Given the description of an element on the screen output the (x, y) to click on. 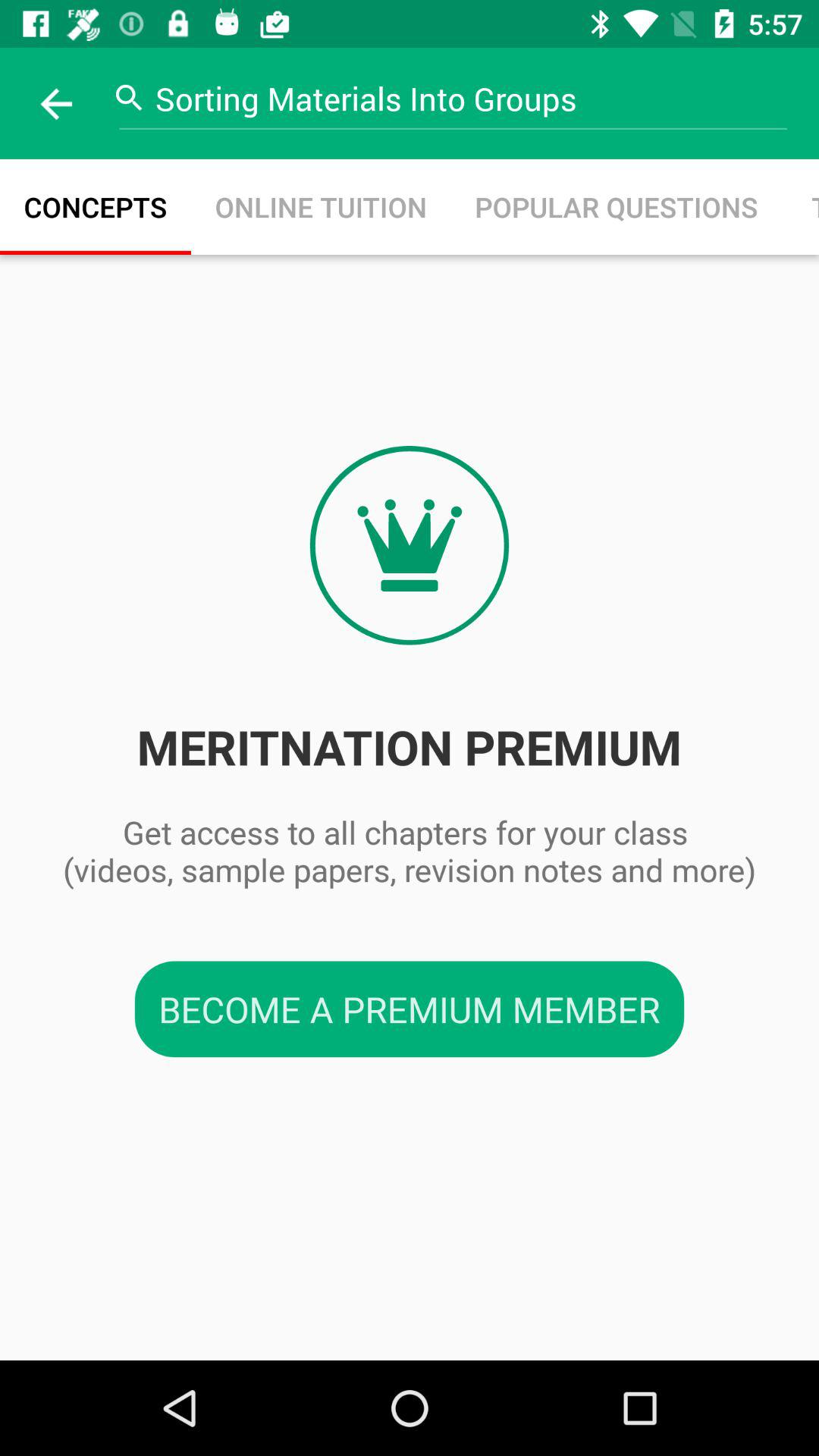
select the become a premium item (409, 1009)
